Given the description of an element on the screen output the (x, y) to click on. 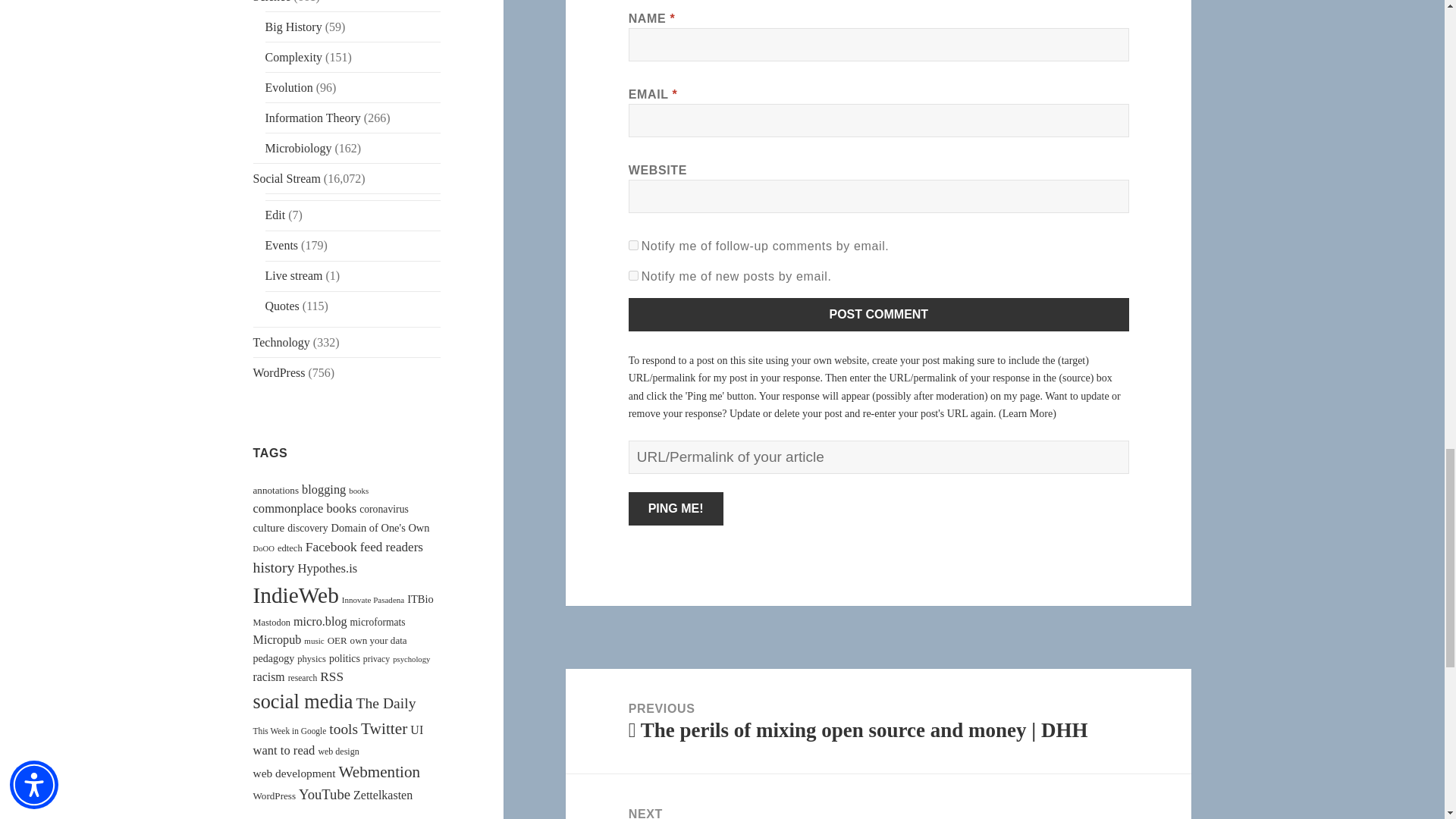
Post Comment (878, 314)
subscribe (633, 245)
Ping me! (675, 508)
subscribe (633, 275)
